Given the description of an element on the screen output the (x, y) to click on. 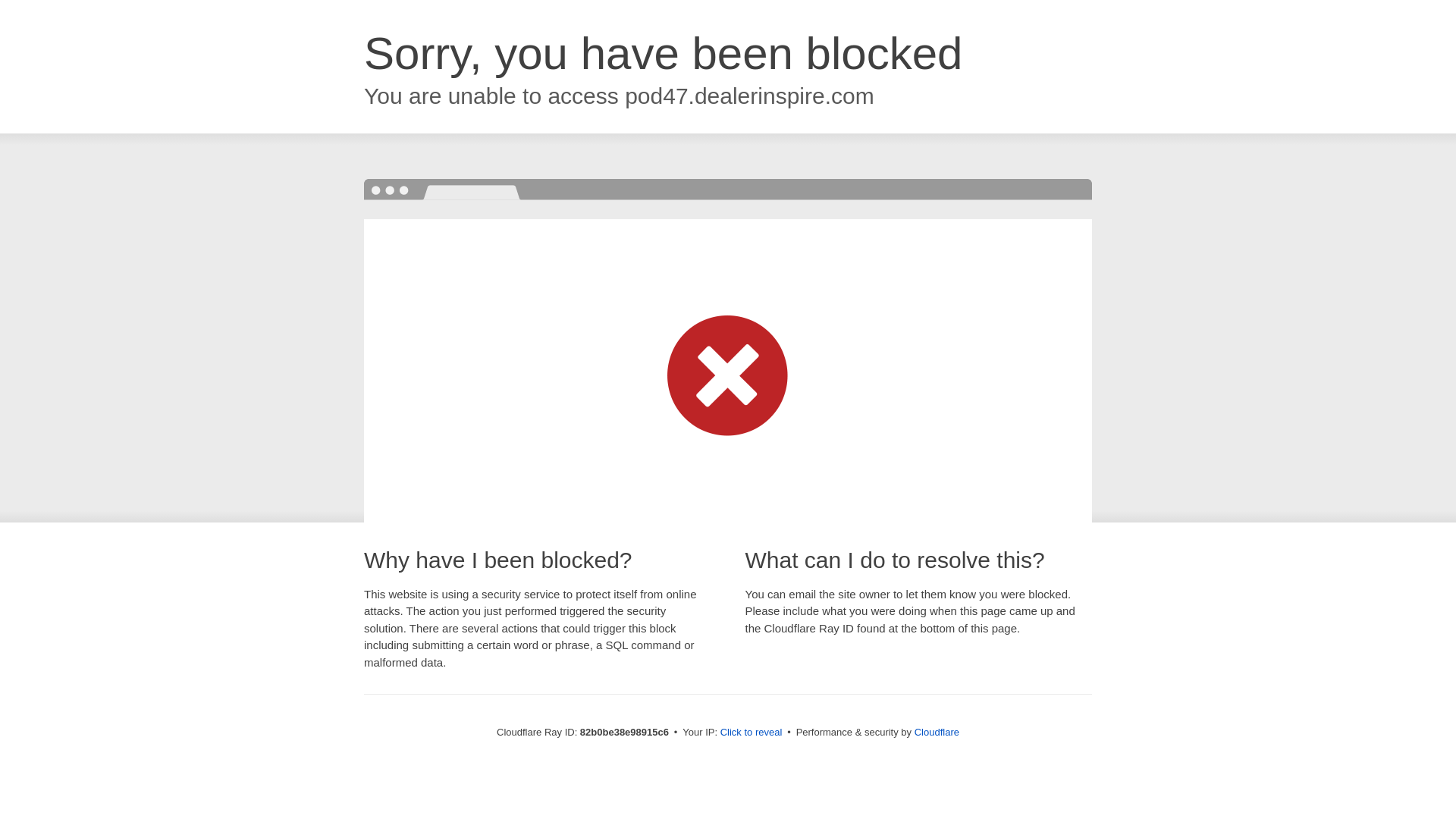
Click to reveal Element type: text (751, 732)
Cloudflare Element type: text (936, 731)
